Given the description of an element on the screen output the (x, y) to click on. 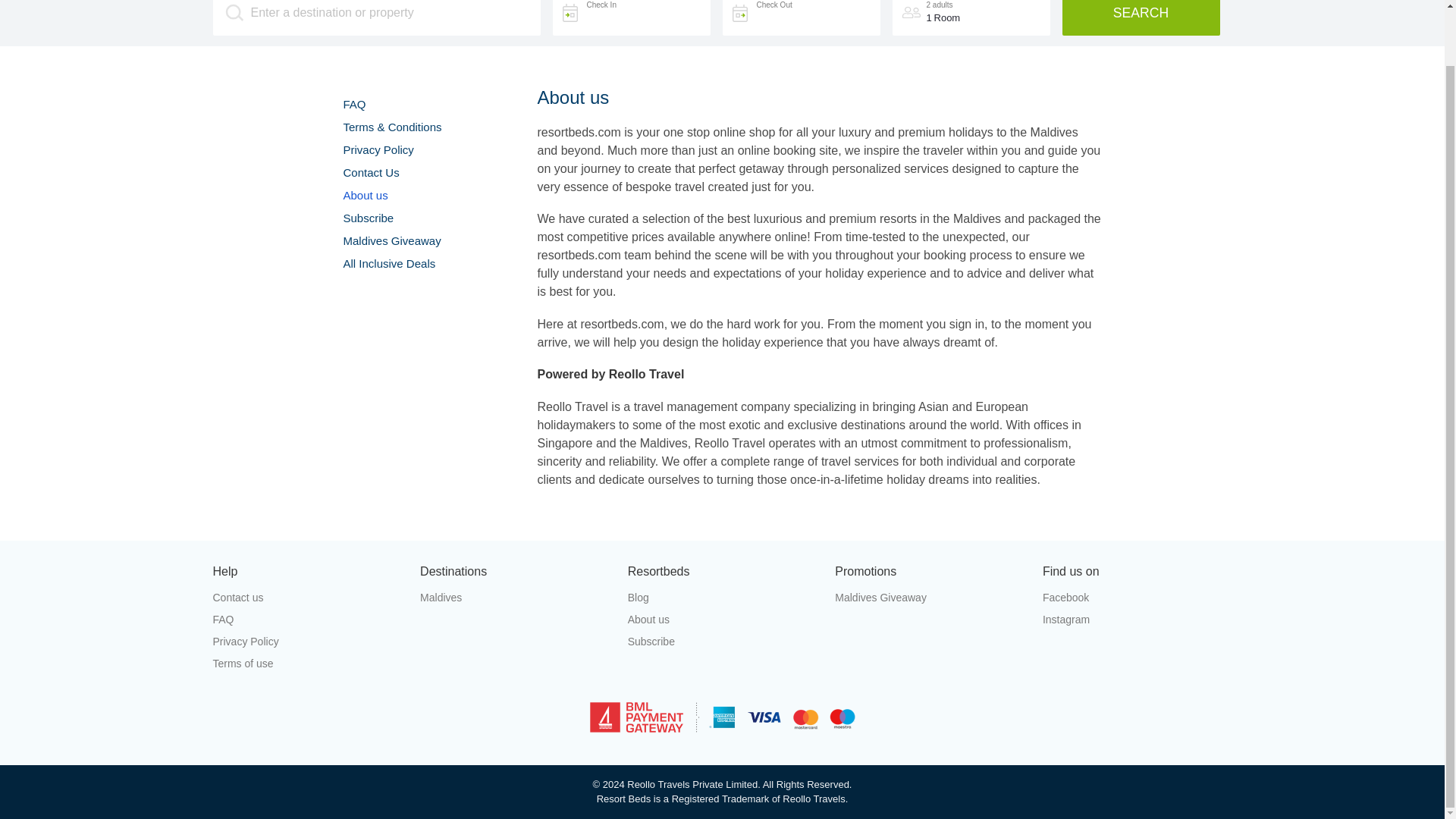
Maldives Giveaway (391, 240)
About us (364, 195)
Privacy Policy (377, 149)
Contact Us (370, 172)
Maldives Giveaway (929, 598)
Privacy Policy (306, 641)
Subscribe (721, 641)
Maldives (515, 598)
Instagram (1136, 619)
All Inclusive Deals (388, 263)
About us (721, 619)
Facebook (1136, 598)
FAQ (306, 619)
Terms of use (306, 663)
FAQ (353, 103)
